Given the description of an element on the screen output the (x, y) to click on. 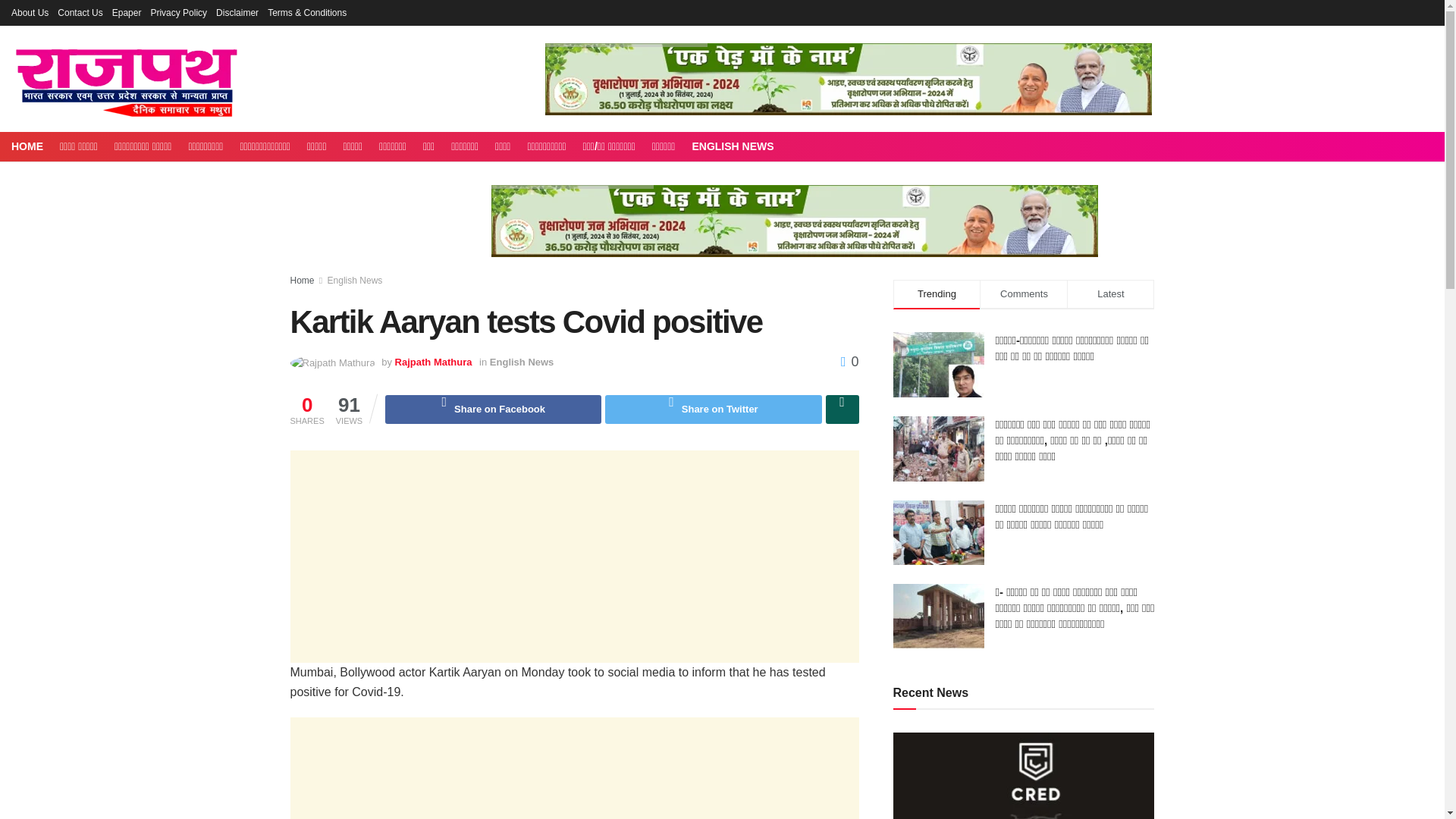
HOME (27, 146)
Epaper (126, 12)
Privacy Policy (177, 12)
ENGLISH NEWS (732, 146)
Contact Us (79, 12)
Disclaimer (237, 12)
About Us (29, 12)
